Given the description of an element on the screen output the (x, y) to click on. 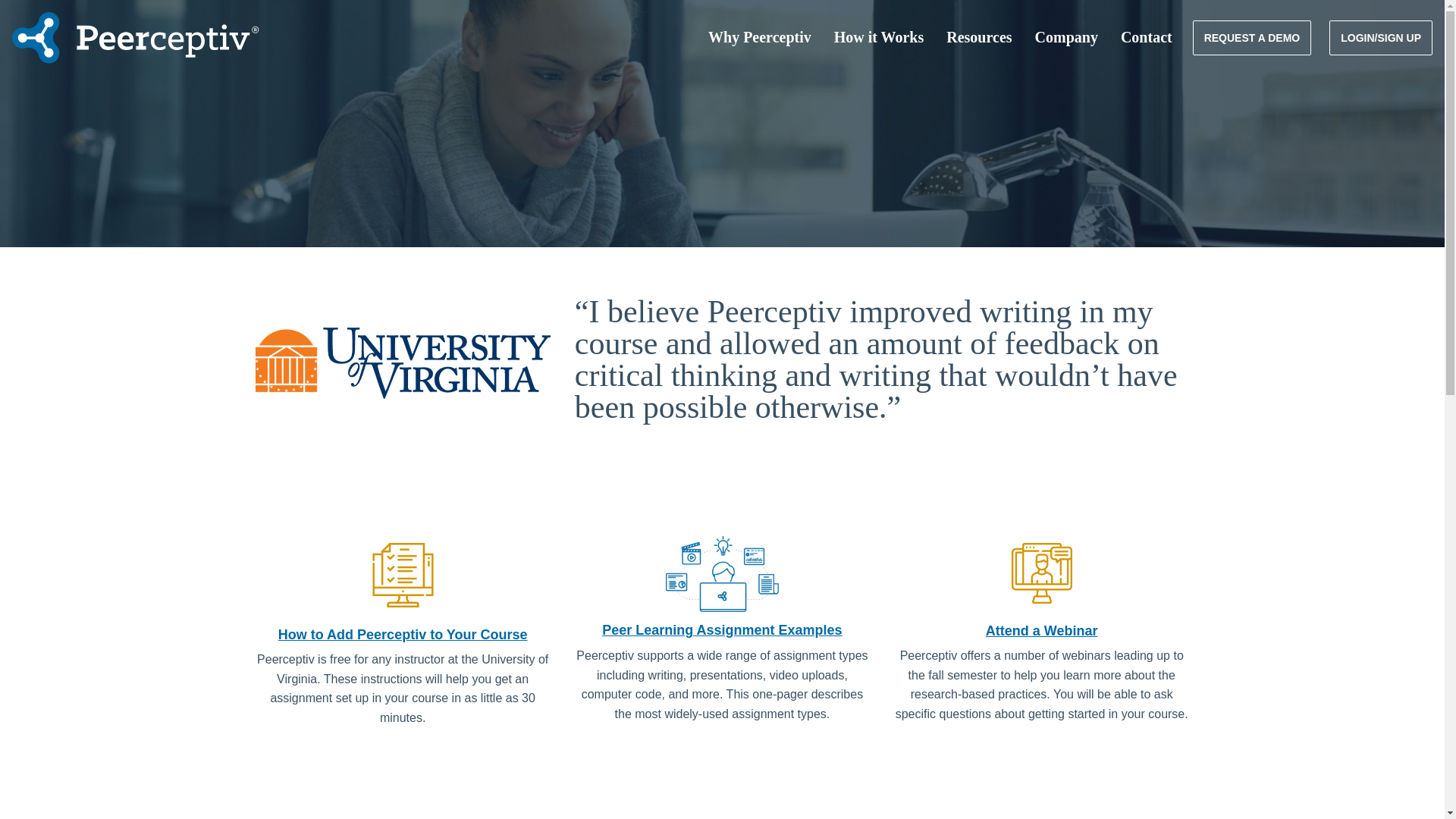
Why Peerceptiv (759, 38)
Resources (978, 38)
How it Works (878, 38)
